Given the description of an element on the screen output the (x, y) to click on. 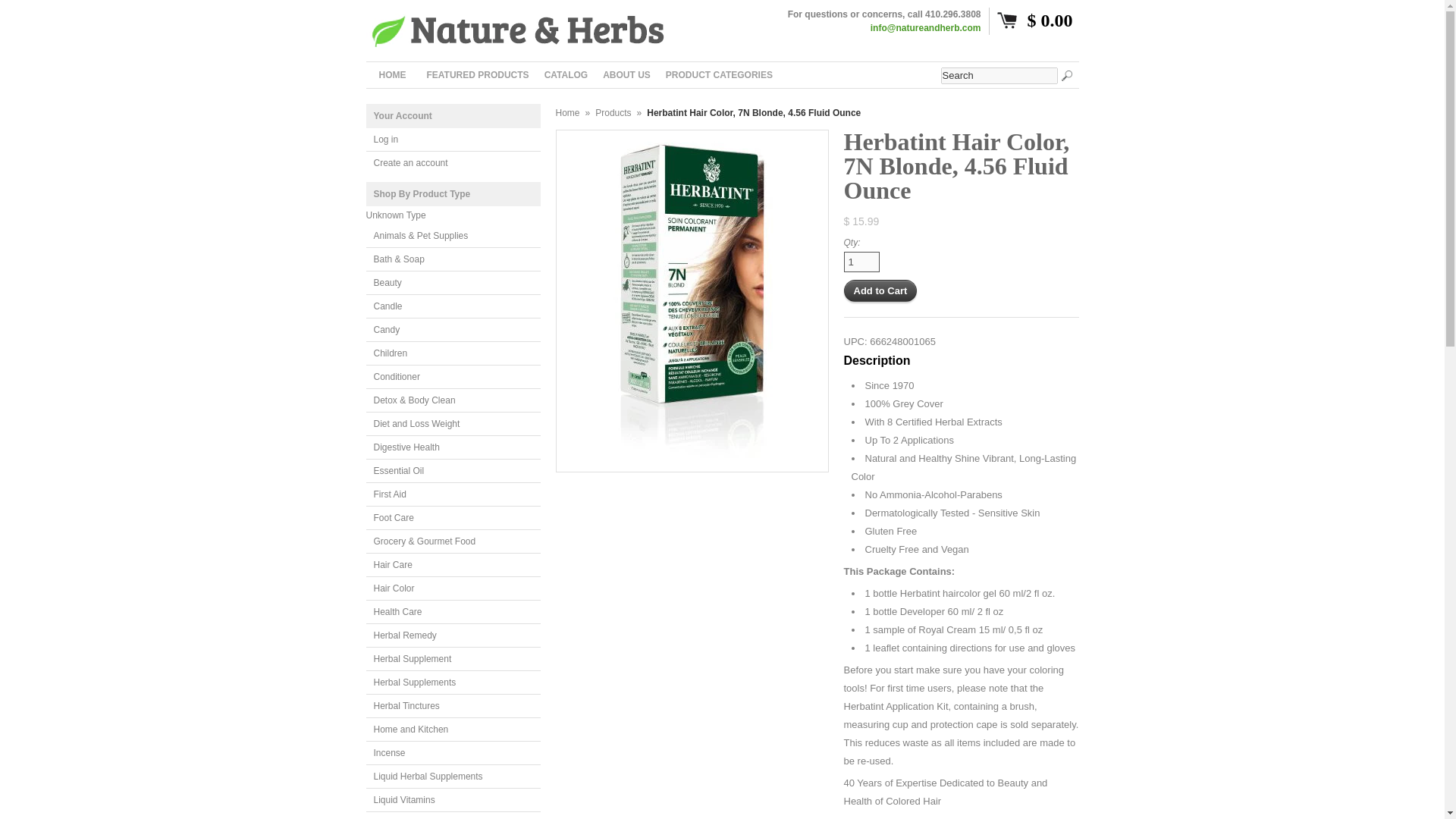
Hair Color (452, 588)
Herbal Supplement (452, 658)
Conditioner (452, 377)
CATALOG (566, 74)
Diet and Loss Weight (452, 423)
PRODUCT CATEGORIES (719, 74)
Search (998, 75)
Liquid Herbal Supplements (452, 776)
Hair Care (452, 565)
Add to Cart (880, 291)
Digestive Health (452, 447)
Home and Kitchen (452, 730)
Herbal Remedy (452, 635)
Diet and Loss Weight (452, 423)
ABOUT US (626, 74)
